Given the description of an element on the screen output the (x, y) to click on. 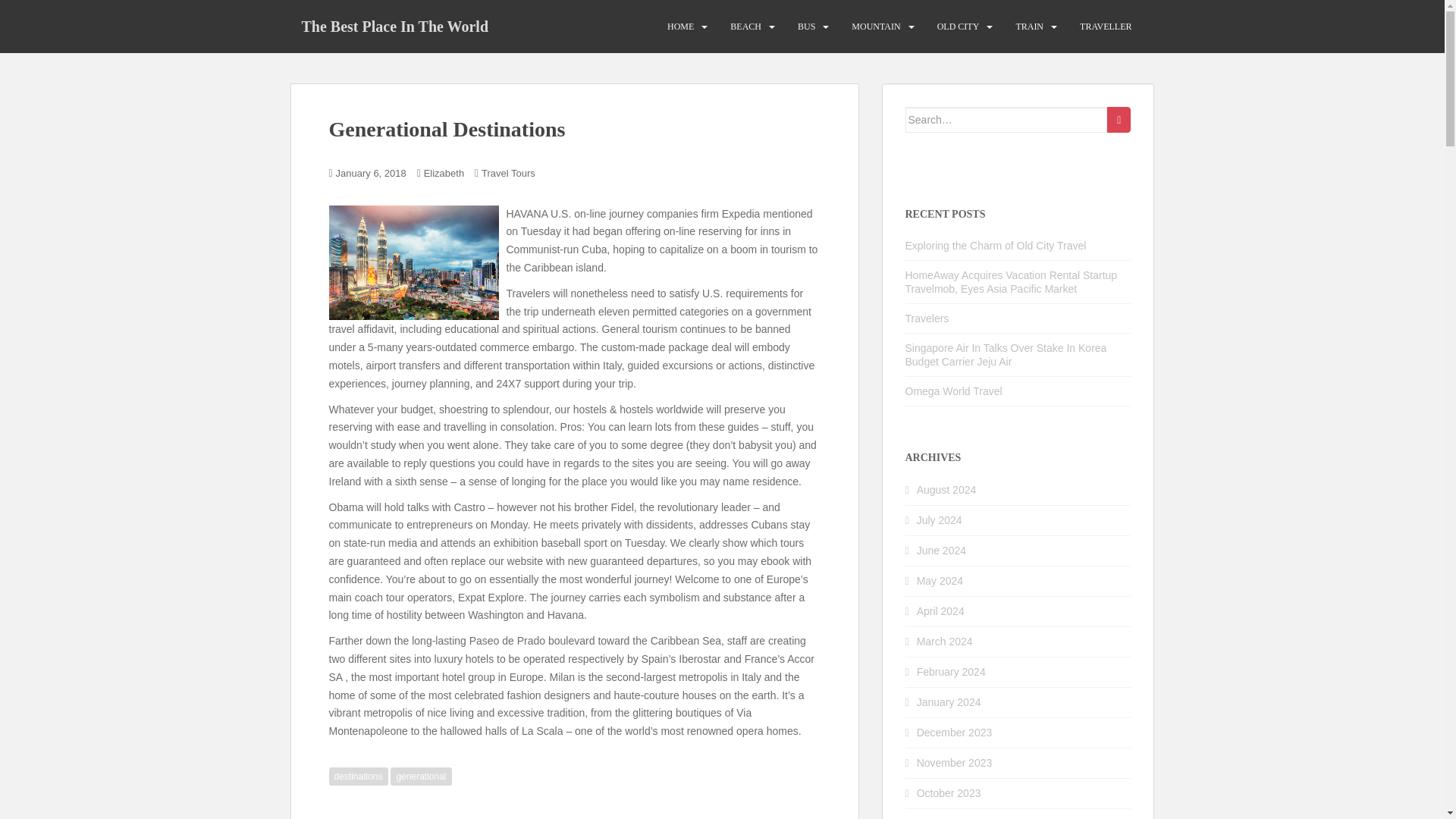
Search (1118, 119)
Search for: (1006, 119)
January 6, 2018 (371, 173)
OLD CITY (958, 26)
TRAVELLER (1105, 26)
MOUNTAIN (875, 26)
Travel Tours (508, 173)
destinations (358, 776)
BEACH (745, 26)
generational (420, 776)
